Given the description of an element on the screen output the (x, y) to click on. 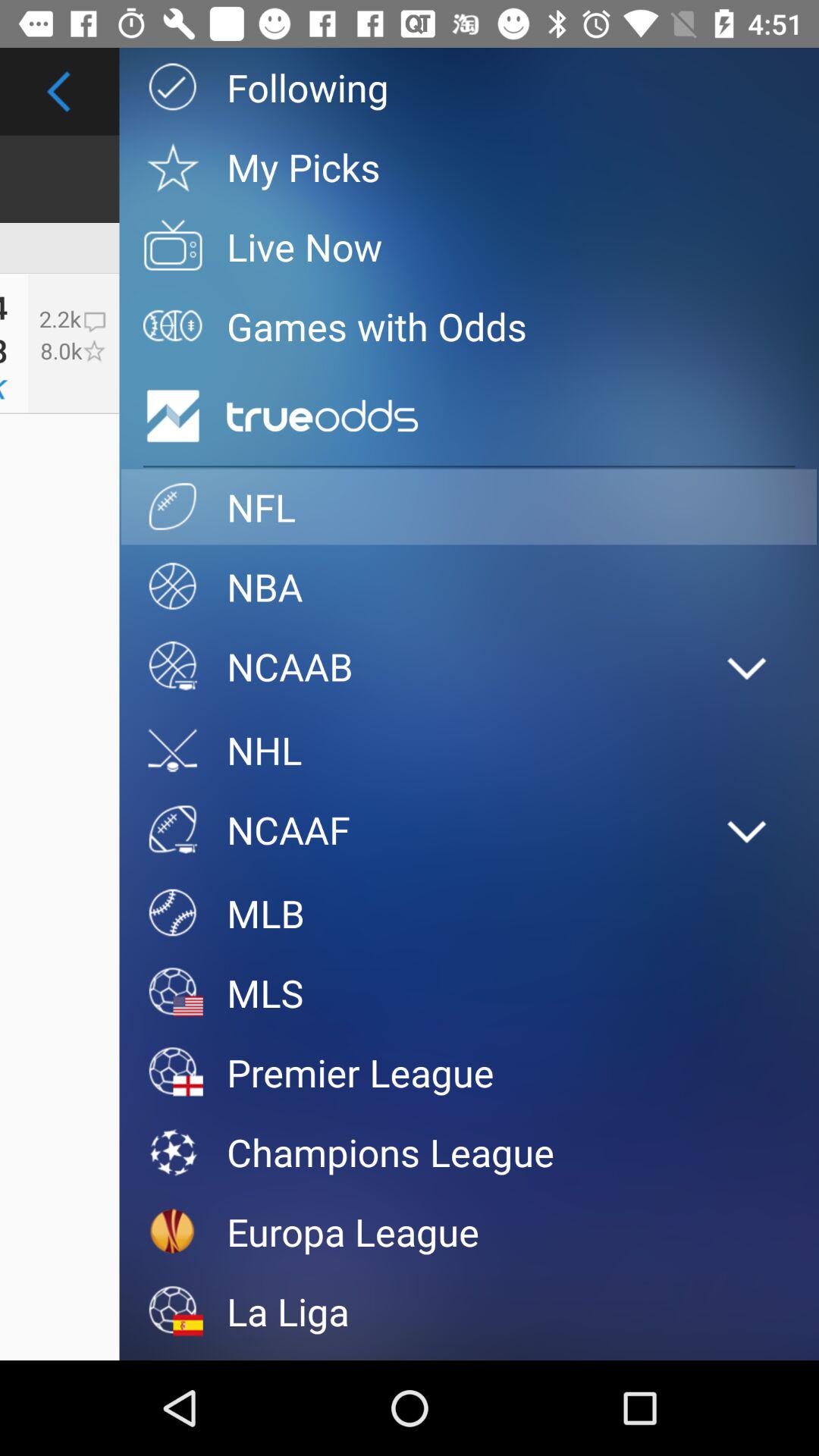
open the item next to the 2 2k c (173, 415)
